Given the description of an element on the screen output the (x, y) to click on. 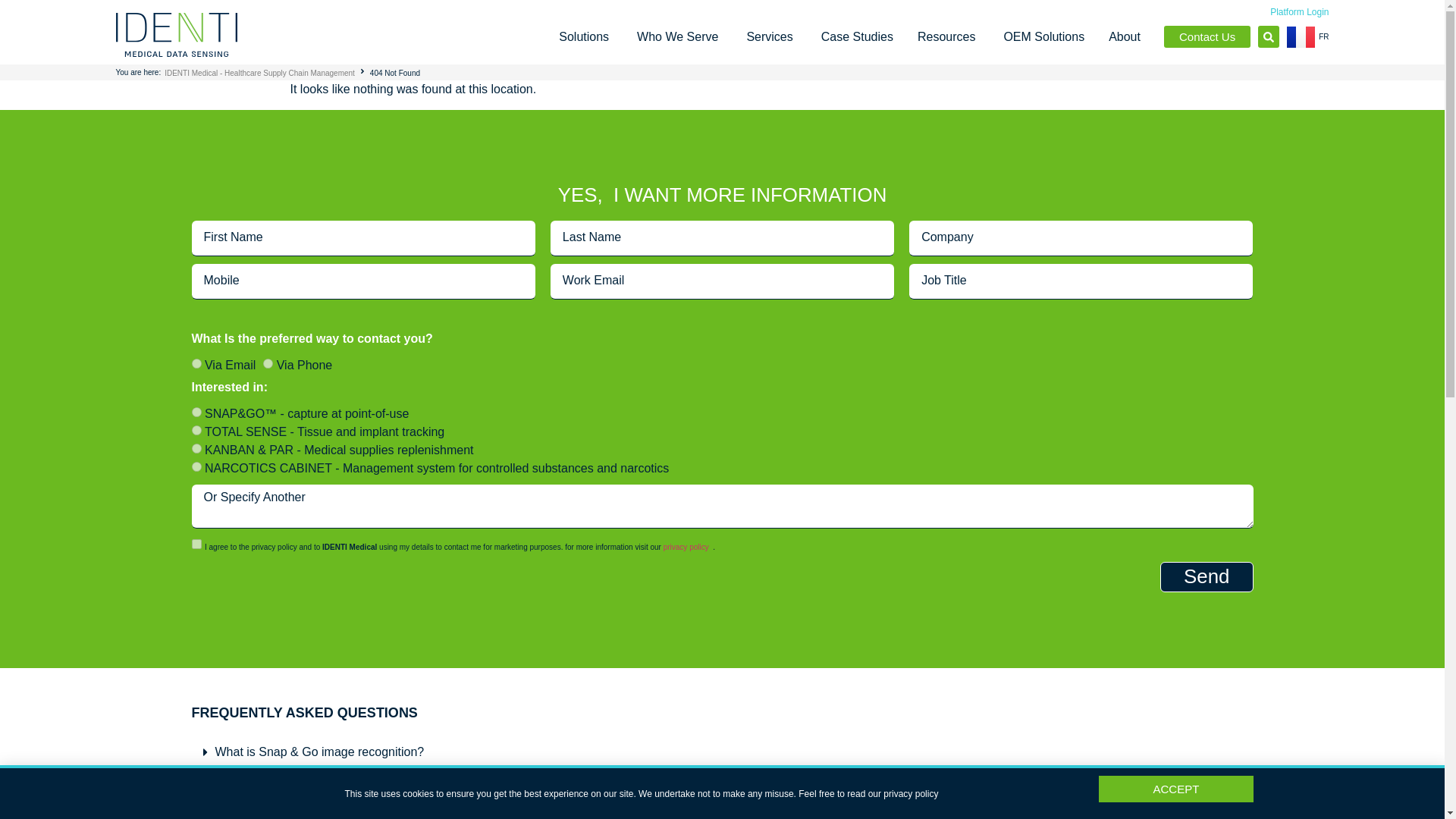
IDENTI Medical - Healthcare Supply Chain Management (259, 72)
Via Phone (268, 363)
TOTAL SENSE - Tissue and implant tracking (195, 429)
Accessibility Tools (26, 791)
on (26, 791)
Via Email (195, 543)
Platform Login (195, 363)
Accessibility Tools (1298, 10)
